Given the description of an element on the screen output the (x, y) to click on. 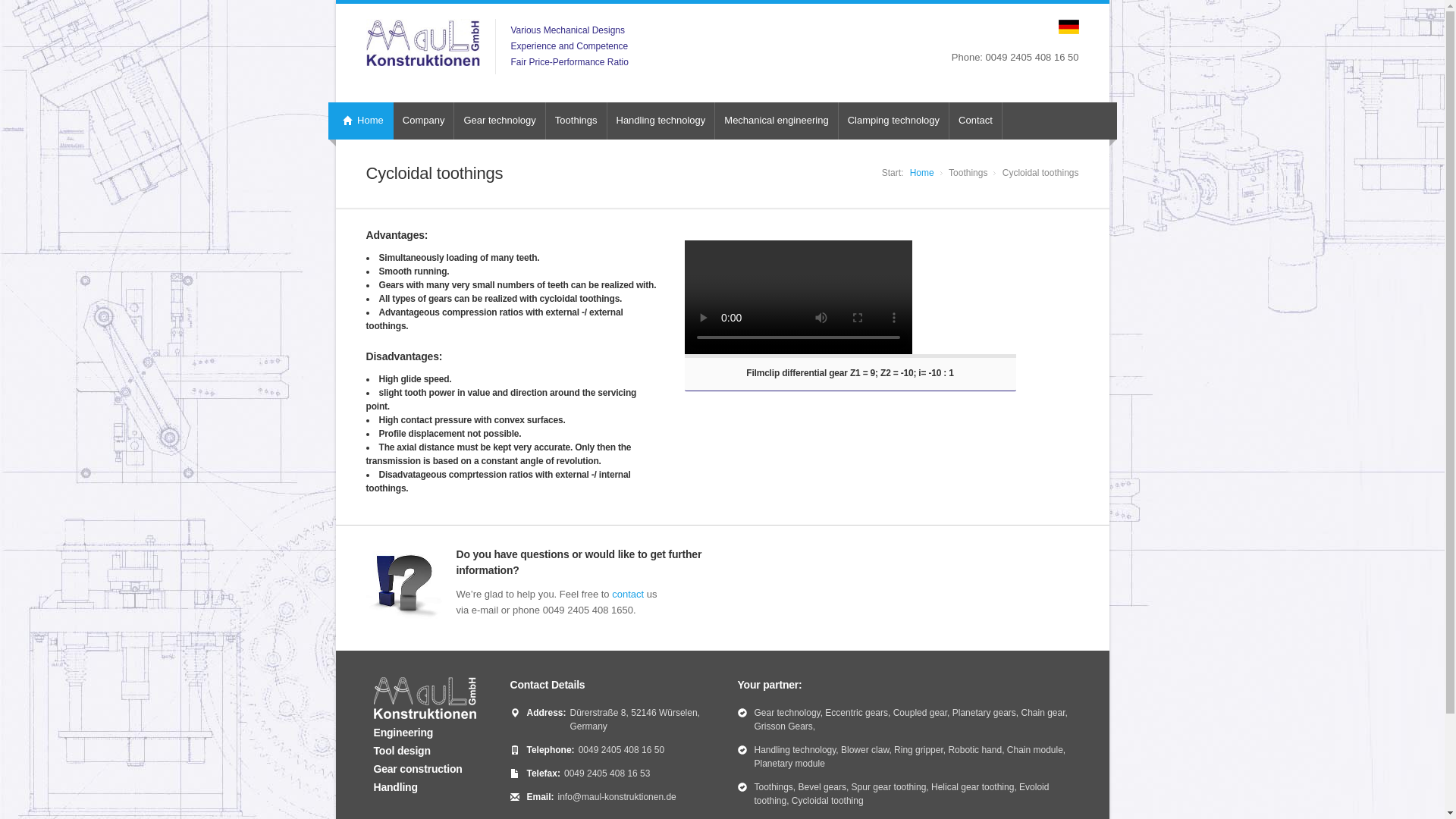
Gear technology (499, 120)
Home (360, 120)
Company (423, 120)
